Given the description of an element on the screen output the (x, y) to click on. 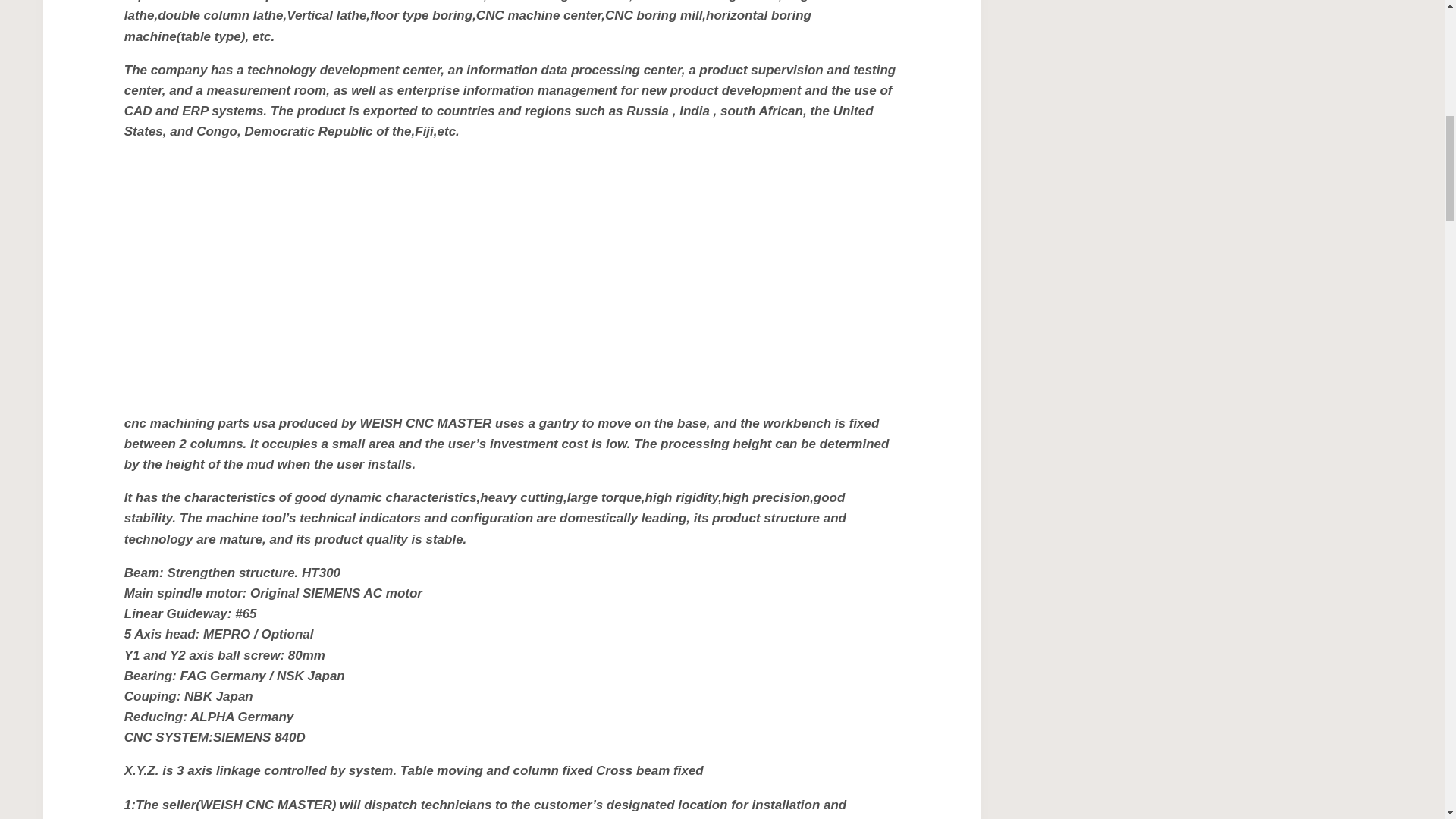
YouTube video player (335, 273)
